Given the description of an element on the screen output the (x, y) to click on. 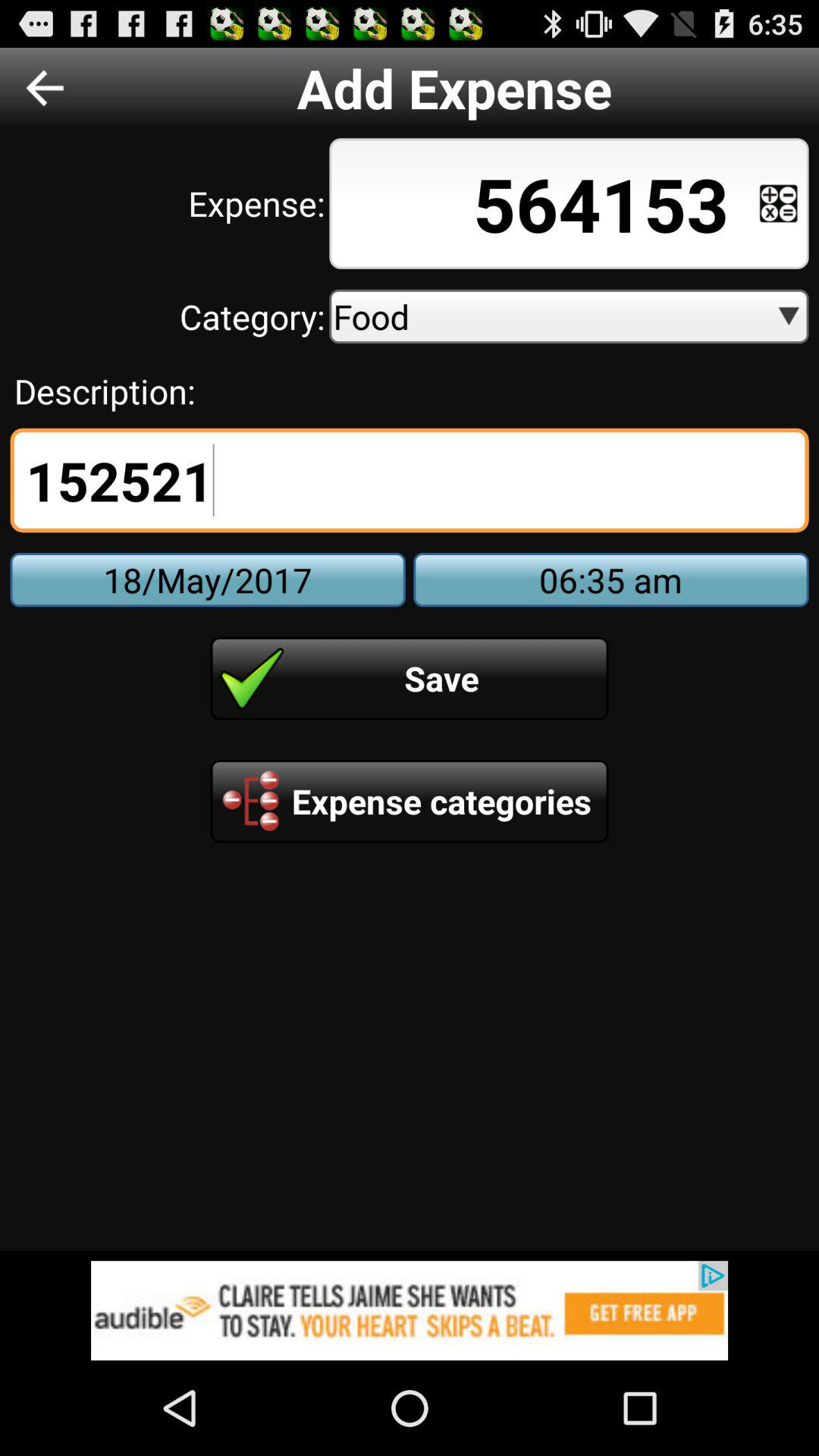
go to previous (44, 87)
